Given the description of an element on the screen output the (x, y) to click on. 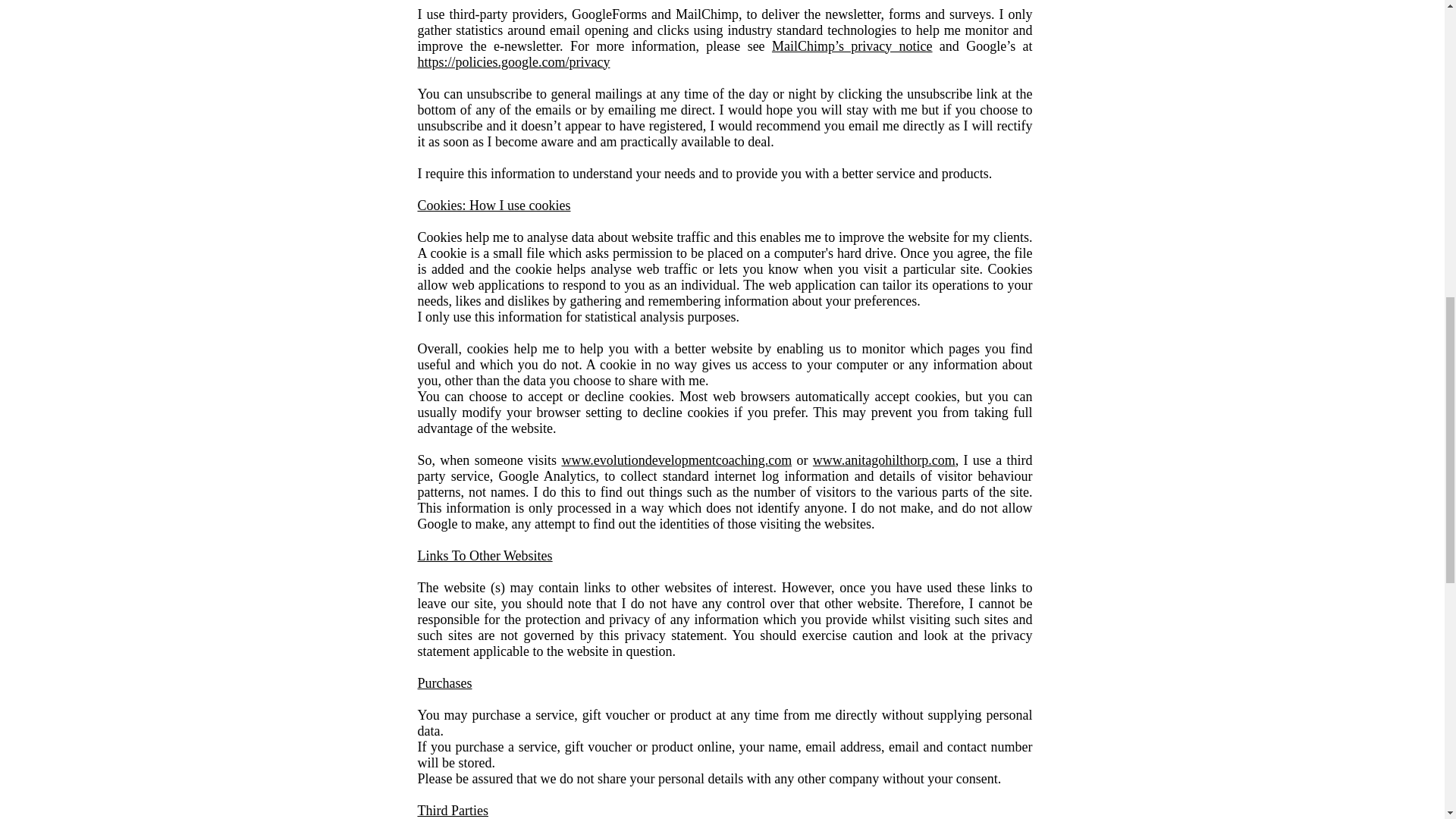
www.evolutiondevelopmentcoaching.com (676, 459)
www.anitagohilthorp.com (883, 459)
